Given the description of an element on the screen output the (x, y) to click on. 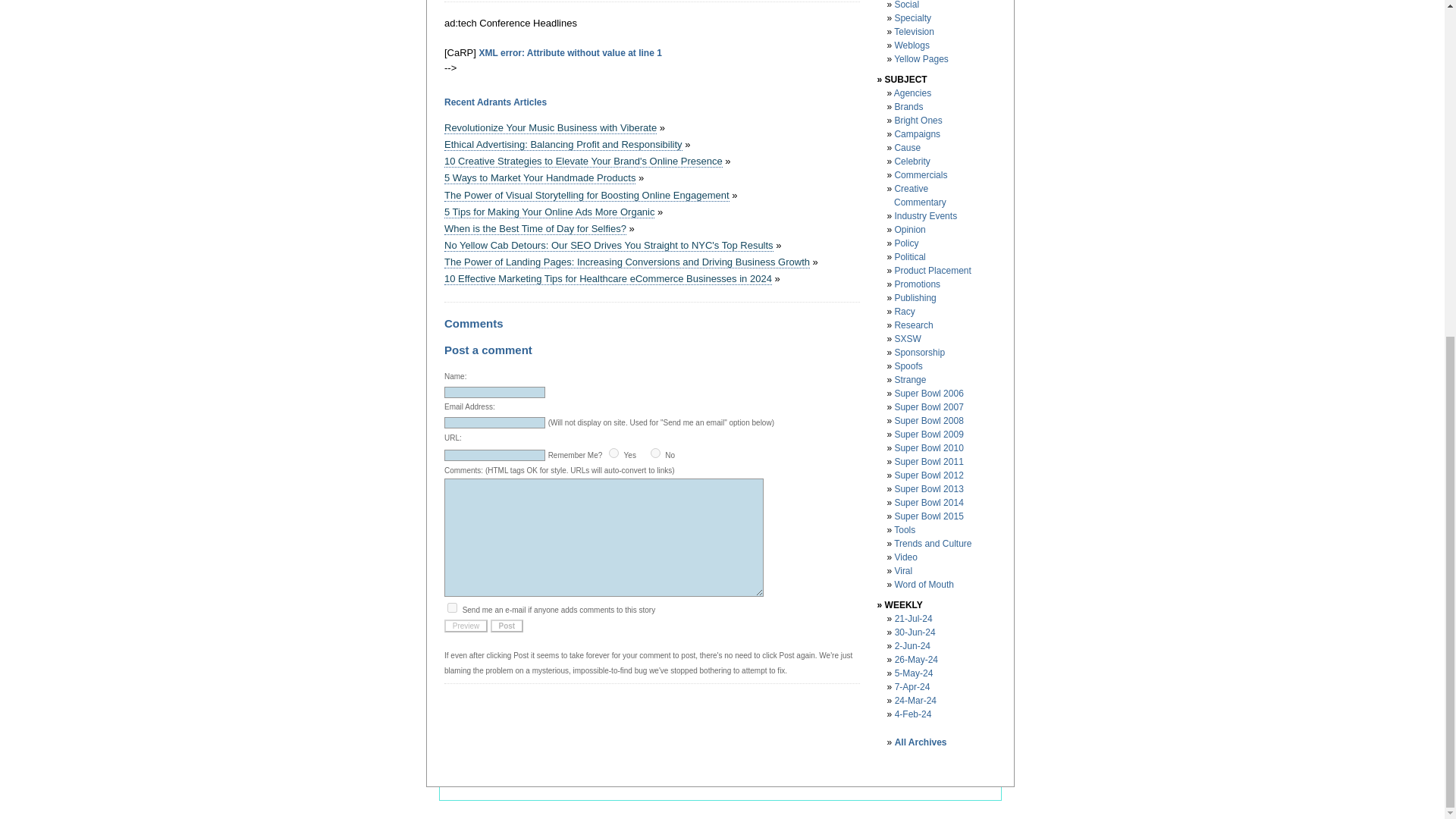
1 (451, 607)
on (613, 452)
Recent Adrants Articles (495, 102)
Revolutionize Your Music Business with Viberate (550, 128)
